Given the description of an element on the screen output the (x, y) to click on. 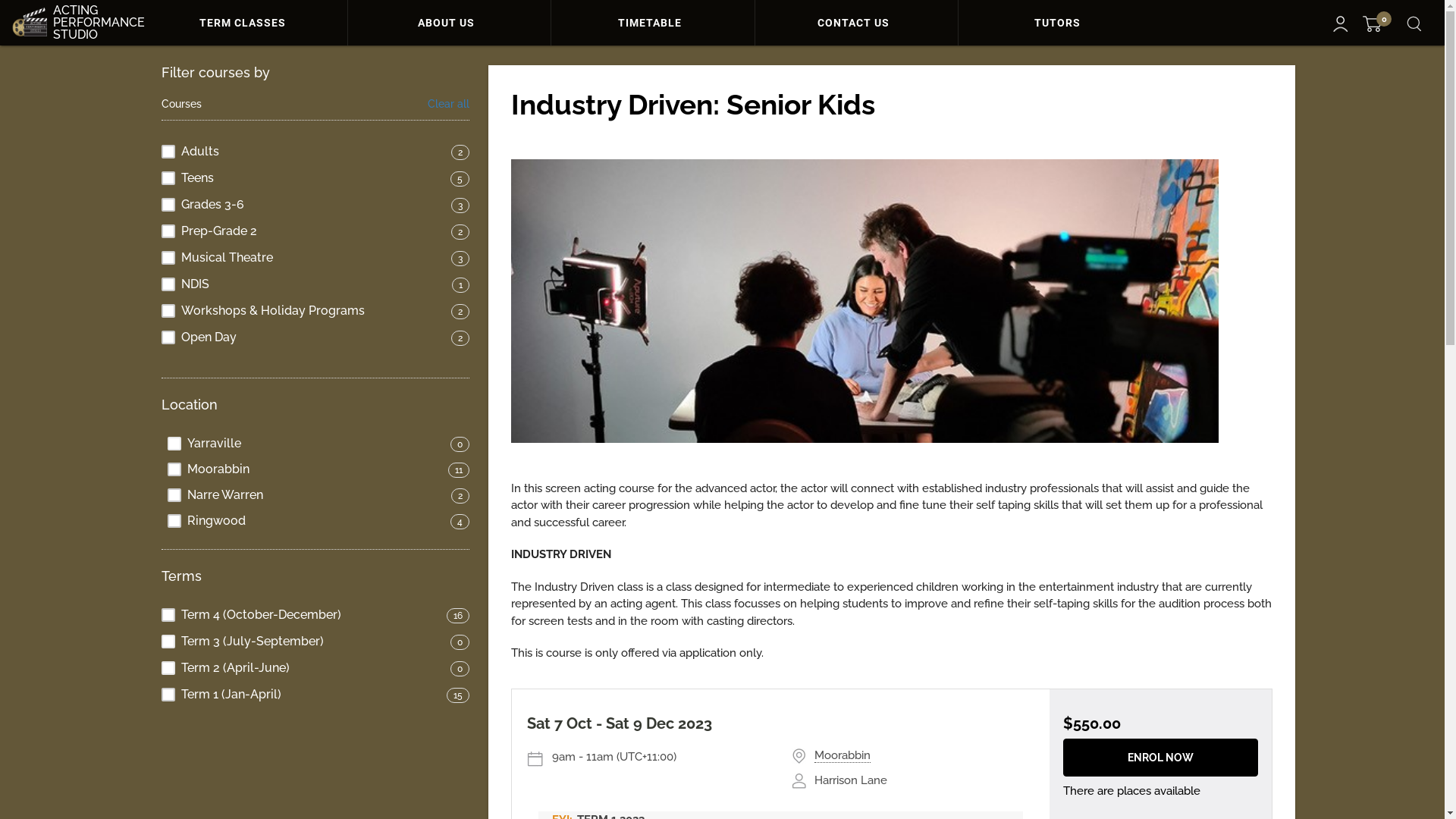
CONTACT US   Element type: text (856, 22)
TERM CLASSES   Element type: text (245, 22)
Harrison Lane Element type: text (850, 780)
ENROL NOW Element type: text (1160, 757)
Sat 7 Oct - Sat 9 Dec 2023 Element type: text (618, 723)
ABOUT US   Element type: text (449, 22)
TUTORS   Element type: text (1060, 22)
Moorabbin Element type: text (842, 755)
Clear all Element type: text (448, 103)
9am - 11am (UTC+11:00) Element type: text (660, 756)
ACTING
PERFORMANCE
STUDIO Element type: text (71, 22)
TIMETABLE   Element type: text (652, 22)
MY ACCOUNT Element type: text (1340, 23)
